Given the description of an element on the screen output the (x, y) to click on. 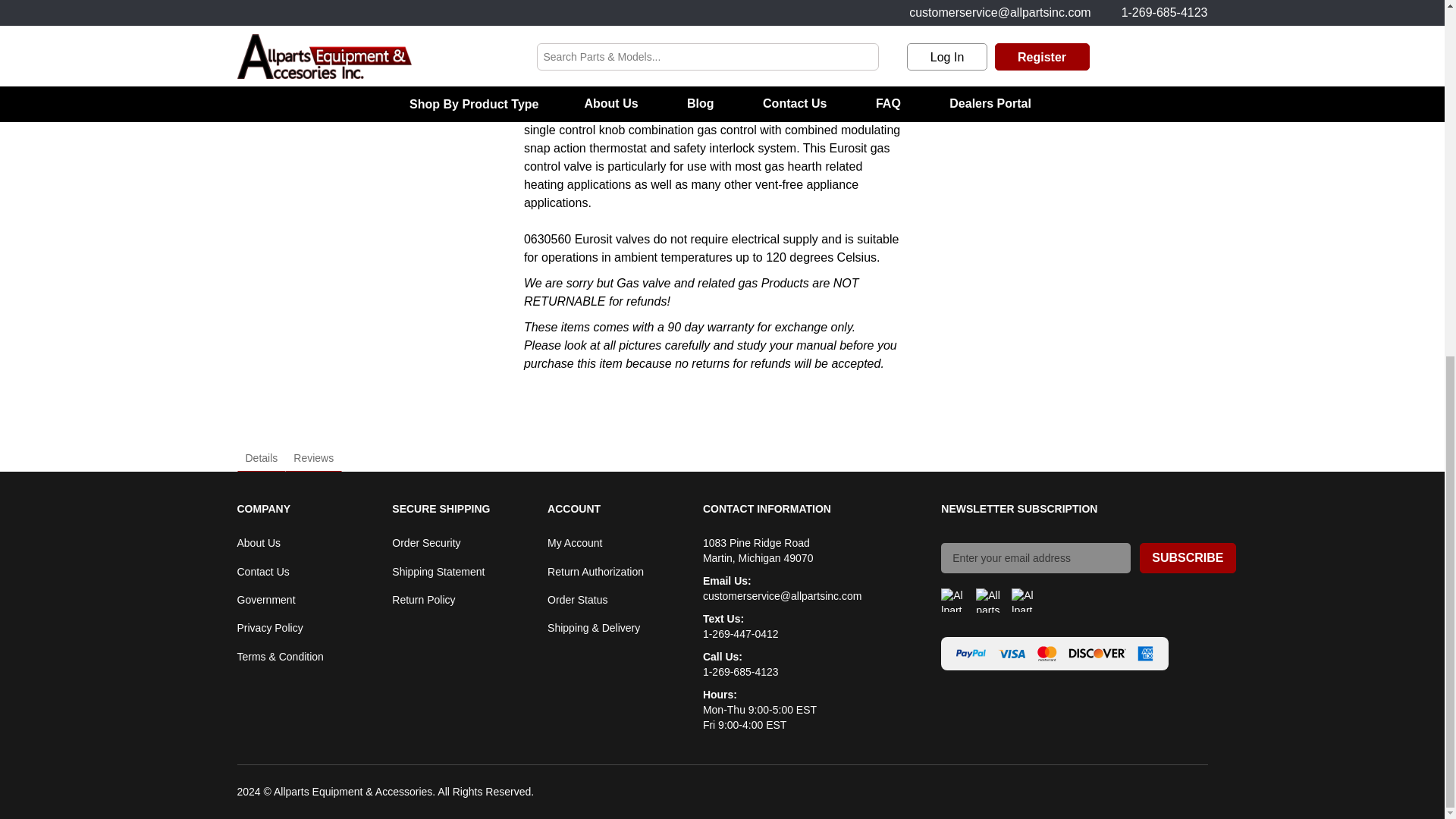
How PayPal Works (970, 653)
Subscribe (1187, 557)
0630560 Eurosit Gas Valve Side Ports  (372, 4)
